Given the description of an element on the screen output the (x, y) to click on. 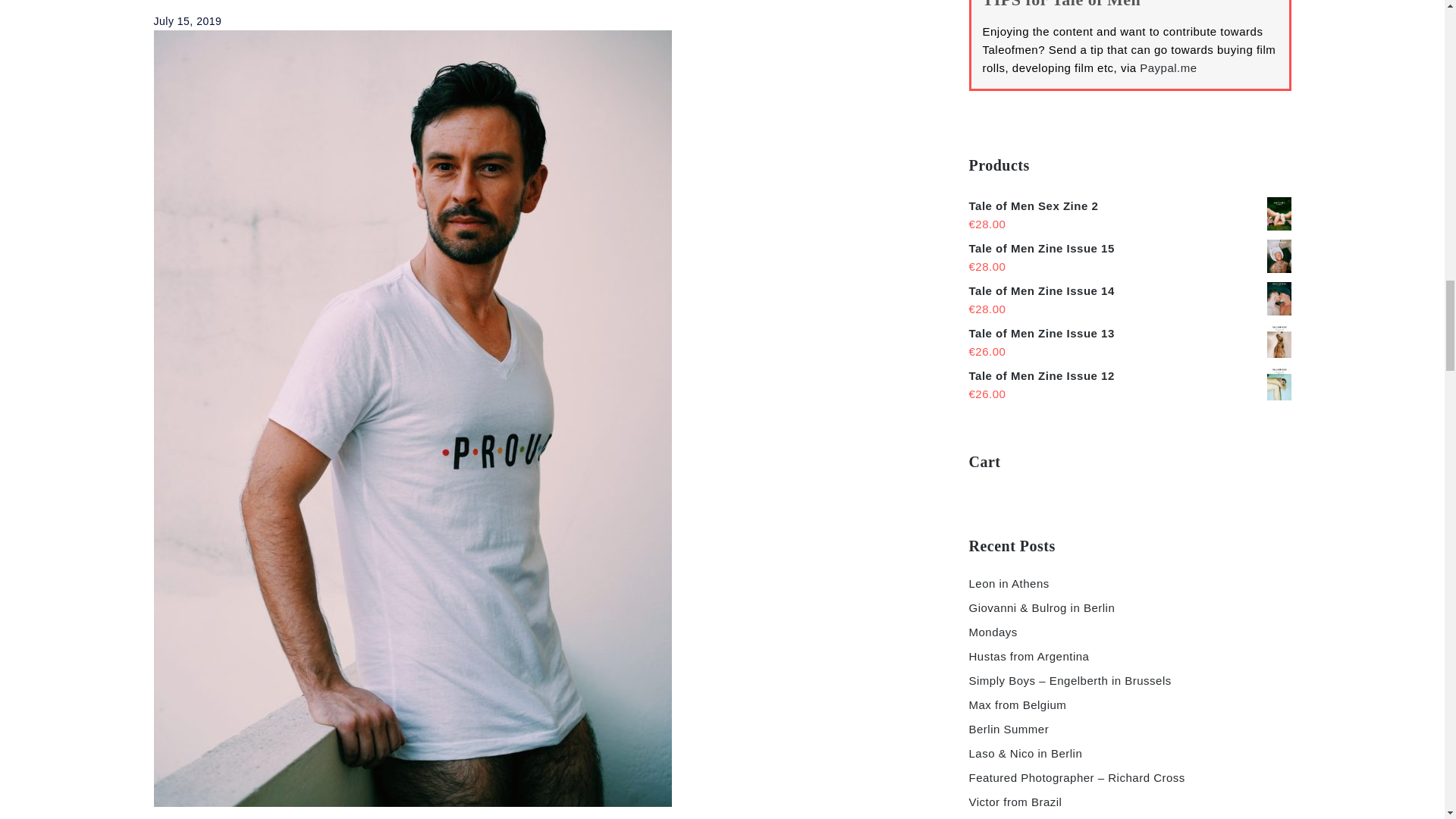
Tale of Men Zine Issue 15 (1130, 248)
Berlin Summer (1009, 728)
Victor from Brazil (1015, 801)
Paypal.me (1168, 67)
Hustas from Argentina (1029, 656)
Mondays (993, 631)
Tale of Men Zine Issue 12 (1130, 375)
Tale of Men Sex Zine 2 (1130, 206)
Max from Belgium (1018, 704)
Leon in Athens (1009, 583)
Tale of Men Zine Issue 14 (1130, 290)
Tale of Men Zine Issue 13 (1130, 333)
July 15, 2019 (186, 21)
